Given the description of an element on the screen output the (x, y) to click on. 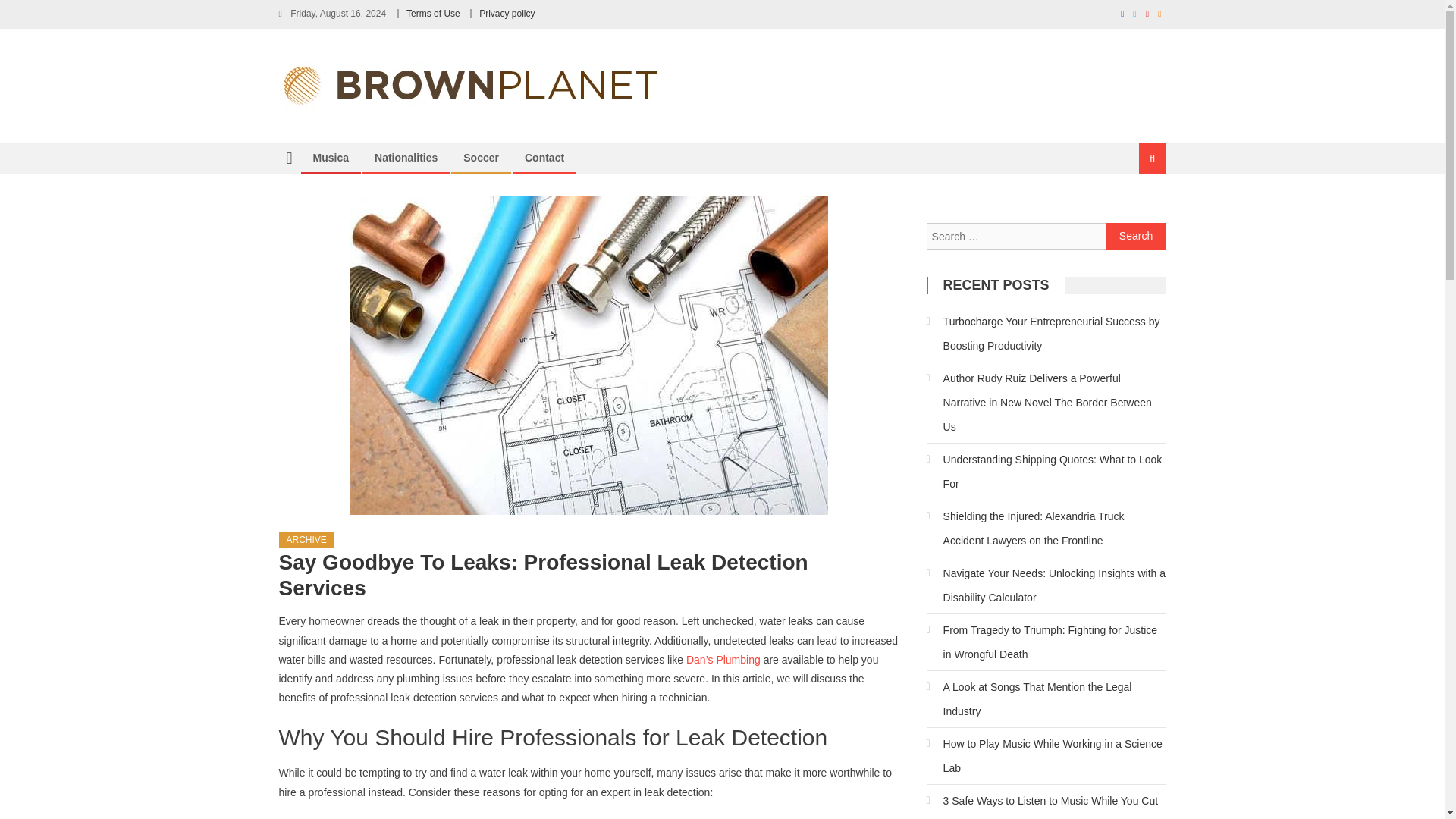
Nationalities (405, 157)
ARCHIVE (306, 540)
Privacy policy (506, 13)
Search (1136, 236)
Search (1133, 208)
Soccer (481, 157)
Search (1136, 236)
Terms of Use (433, 13)
Contact (544, 157)
Search (1136, 236)
